Given the description of an element on the screen output the (x, y) to click on. 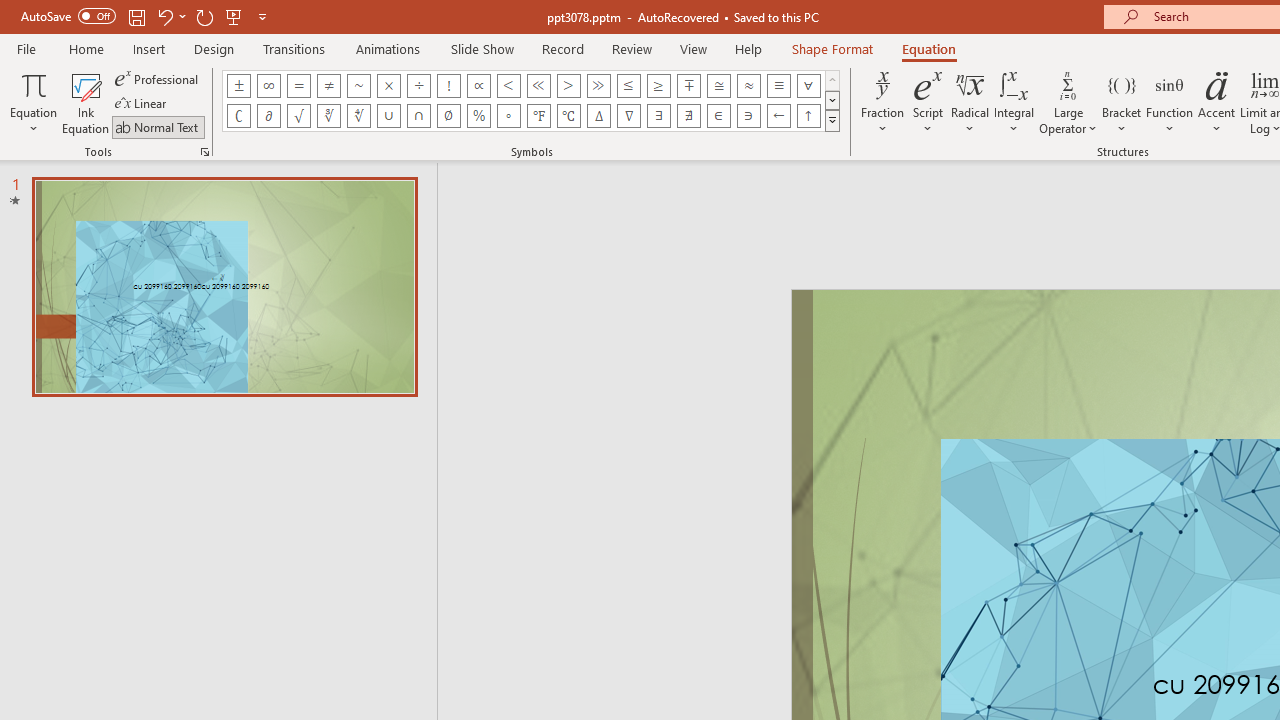
Equation (33, 102)
Equation Symbol Greater Than or Equal To (658, 85)
Professional (158, 78)
Linear (142, 103)
Equation Symbol Minus Plus (689, 85)
Bracket (1121, 102)
Fraction (882, 102)
Equation Symbol Increment (598, 115)
Equation Symbol Radical Sign (298, 115)
Equation Symbol Contains as Member (748, 115)
